Given the description of an element on the screen output the (x, y) to click on. 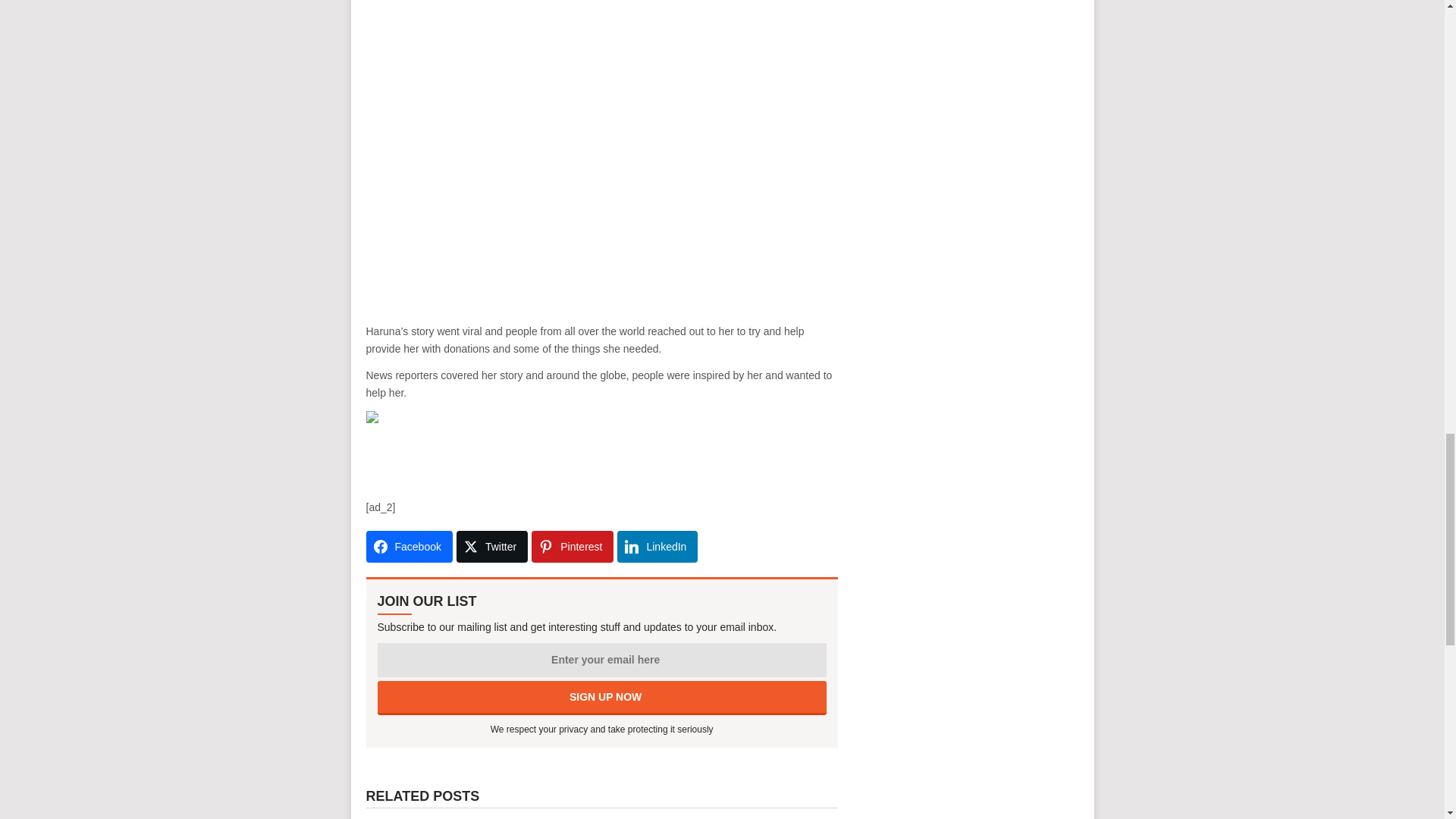
Share on Facebook (408, 546)
Facebook (408, 546)
LinkedIn (657, 546)
Sign Up Now (602, 697)
Share on Pinterest (571, 546)
Share on Twitter (492, 546)
Pinterest (571, 546)
Sign Up Now (602, 697)
